Given the description of an element on the screen output the (x, y) to click on. 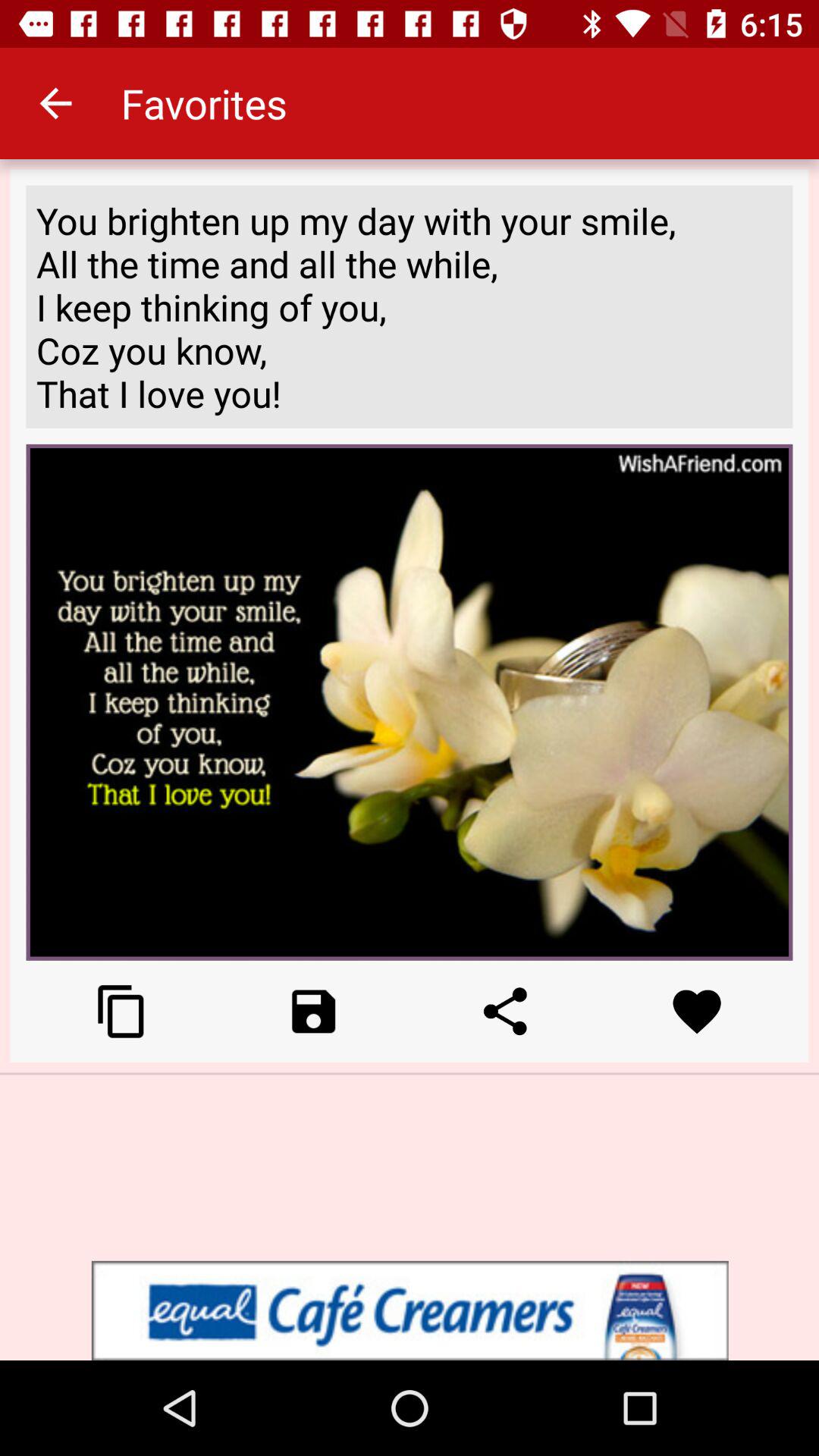
click to like option (696, 1011)
